Given the description of an element on the screen output the (x, y) to click on. 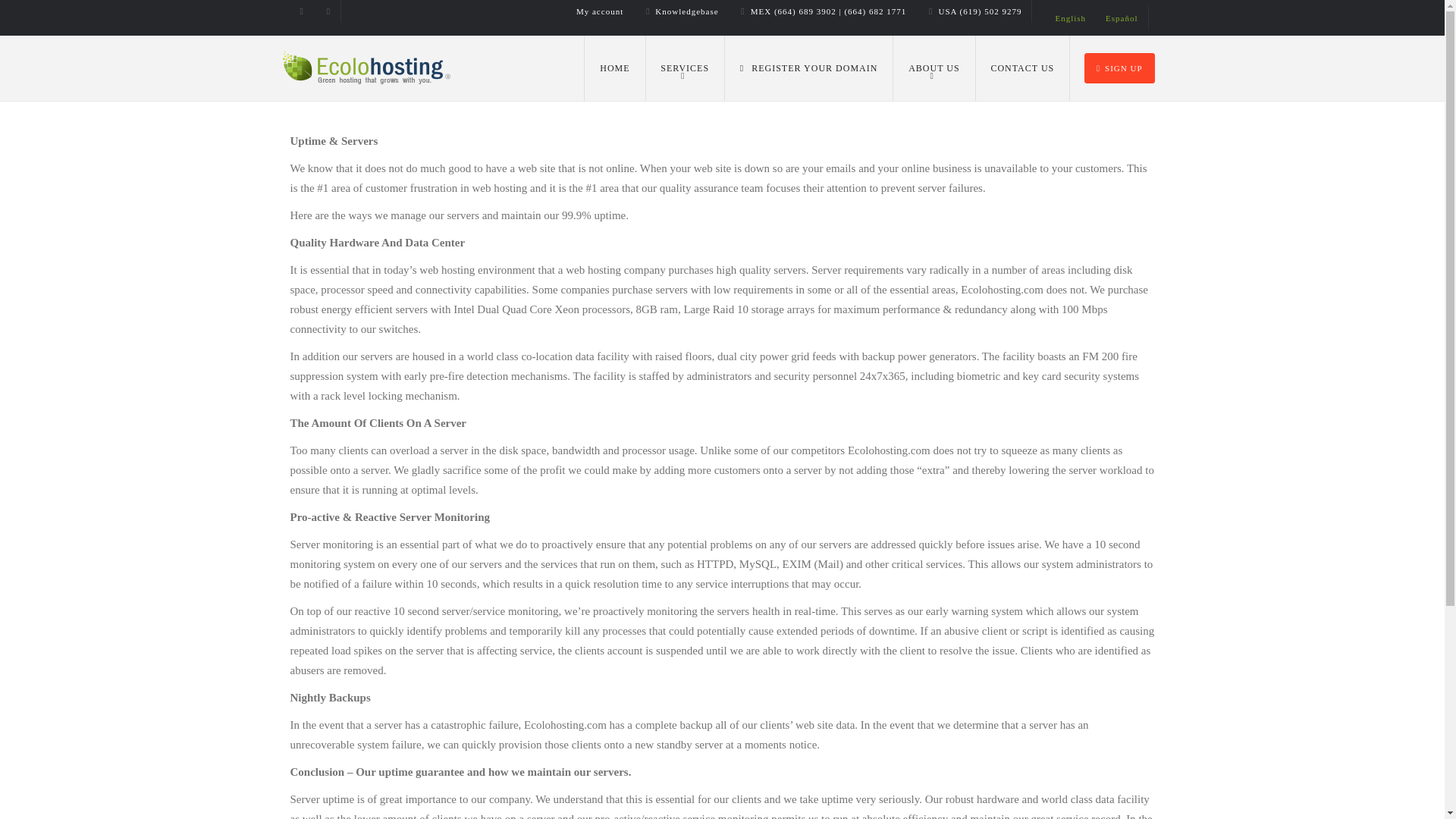
My account (599, 10)
ABOUT US (933, 68)
SERVICES (684, 68)
SIGN UP (1119, 68)
HOME (615, 68)
Home (615, 68)
Services (684, 68)
MEX (822, 10)
CONTACT US (1021, 68)
REGISTER YOUR DOMAIN (809, 68)
English (1070, 17)
Knowledgebase (682, 10)
Knowledgebase (682, 10)
USA (974, 10)
My account (599, 10)
